Given the description of an element on the screen output the (x, y) to click on. 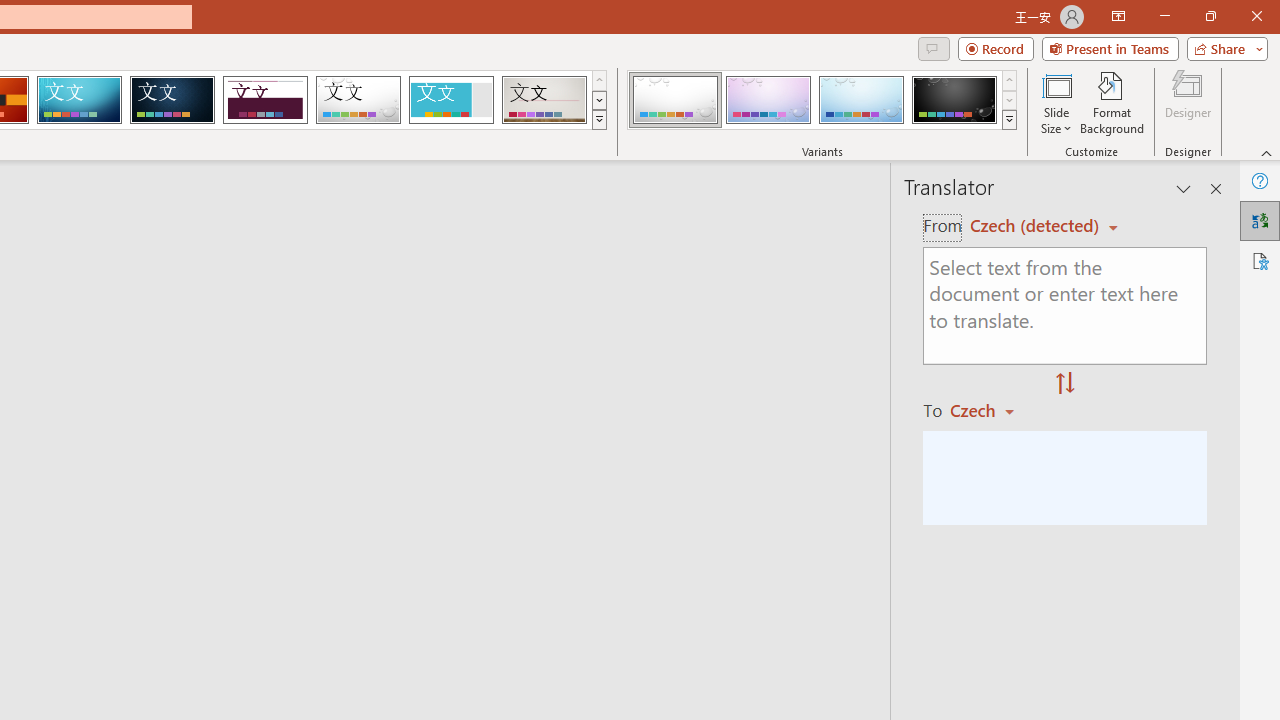
Frame (450, 100)
Czech (991, 409)
Droplet (358, 100)
